Given the description of an element on the screen output the (x, y) to click on. 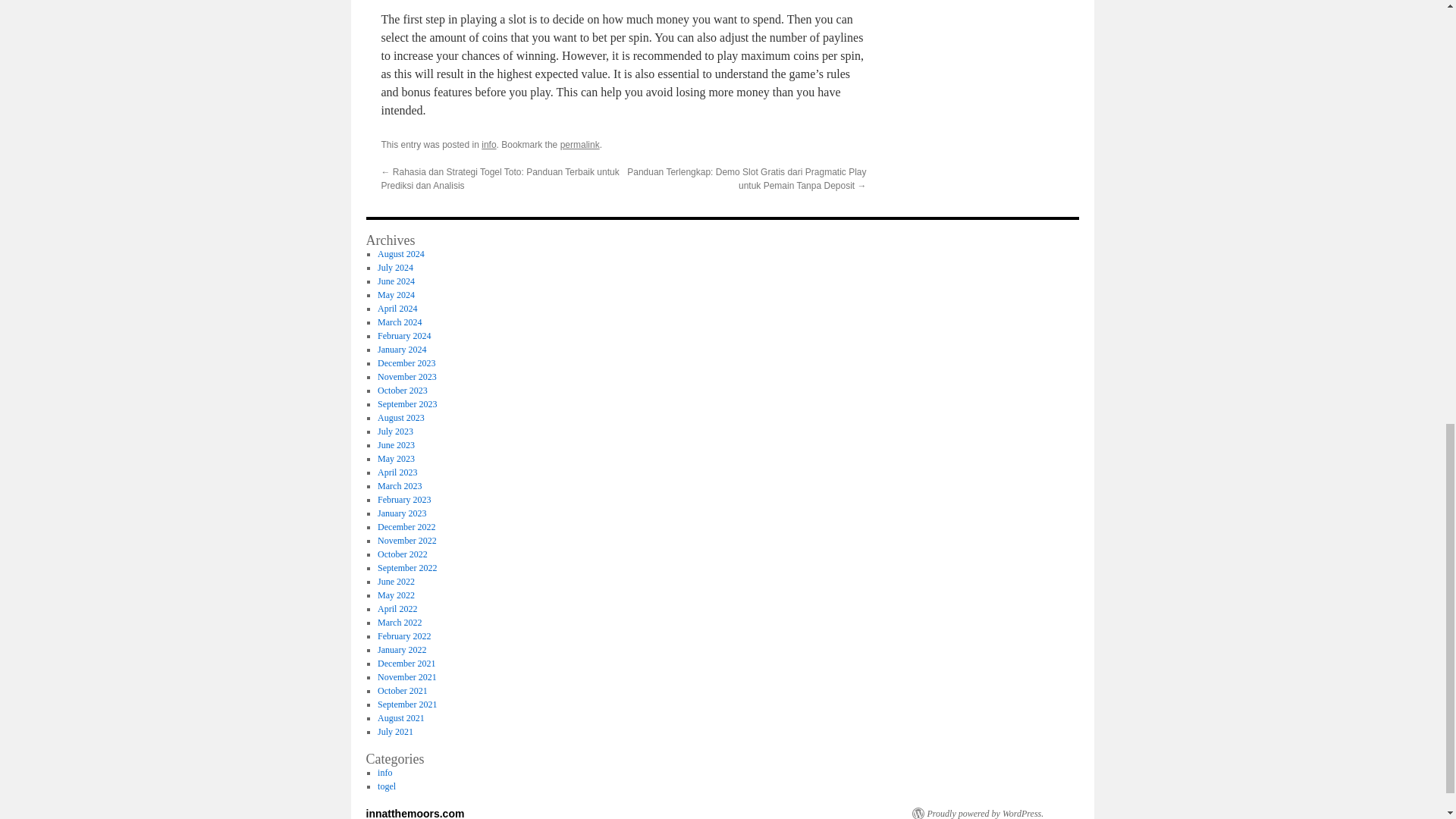
November 2022 (406, 540)
May 2024 (395, 294)
February 2023 (403, 499)
November 2023 (406, 376)
permalink (579, 144)
December 2022 (406, 526)
April 2024 (396, 308)
March 2024 (399, 321)
February 2024 (403, 335)
December 2023 (406, 362)
